Given the description of an element on the screen output the (x, y) to click on. 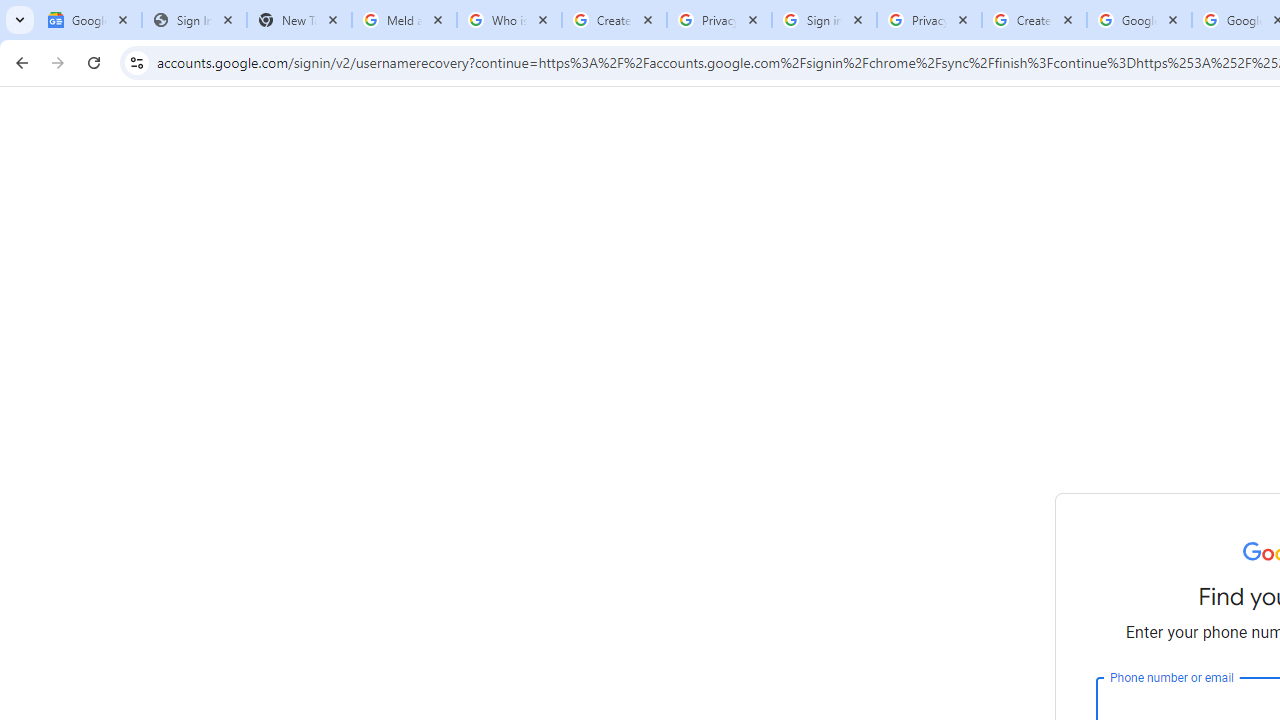
Create your Google Account (1033, 20)
